Given the description of an element on the screen output the (x, y) to click on. 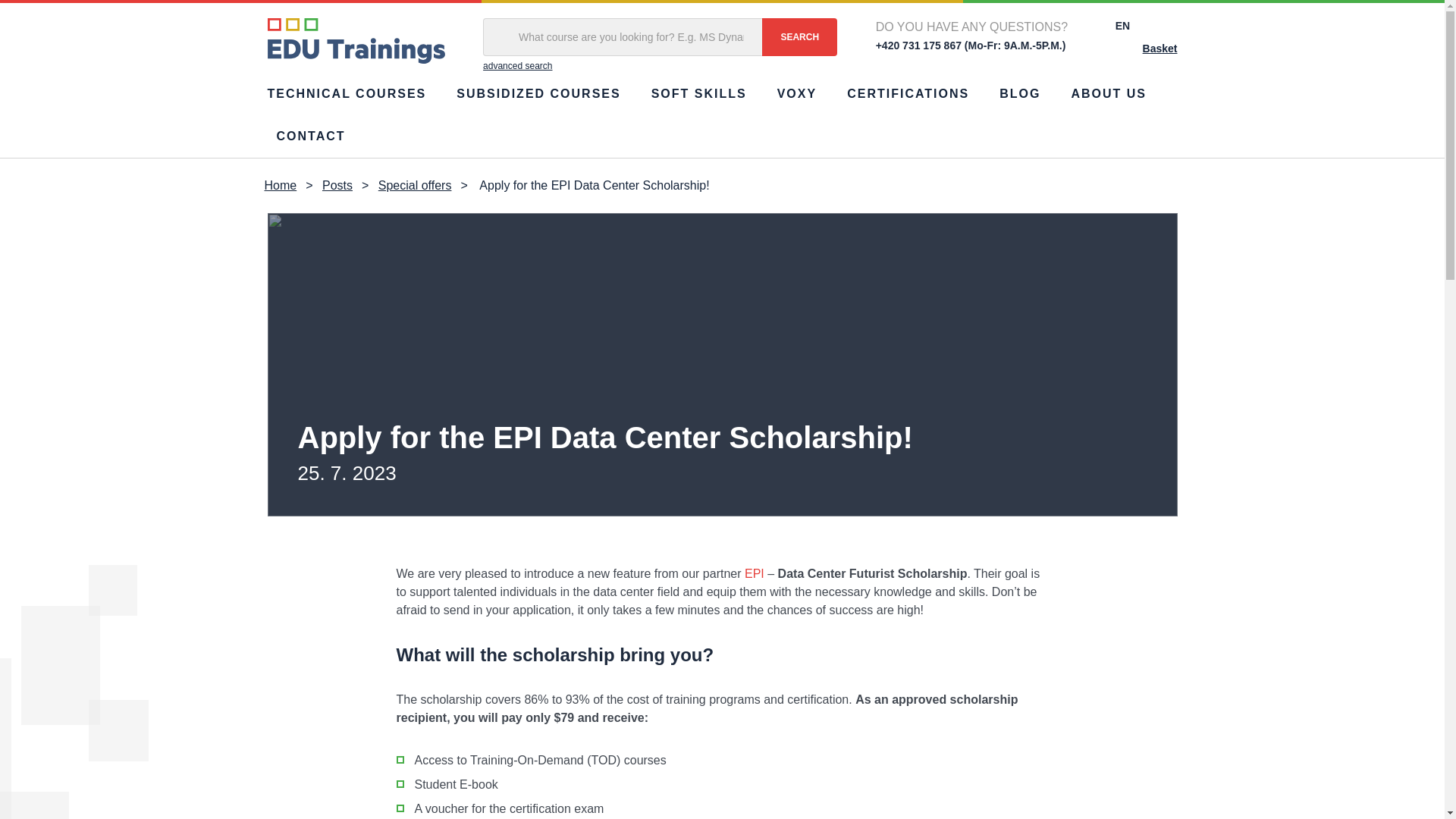
TECHNICAL COURSES (350, 93)
Posts (336, 185)
advanced search (660, 65)
VOXY (796, 93)
EN (1141, 26)
CONTACT (309, 136)
Search (799, 37)
SOFT SKILLS (698, 93)
EPI (754, 573)
BLOG (1019, 93)
ABOUT US (1108, 93)
Home (280, 185)
Basket (1146, 49)
Special offers (414, 185)
CERTIFICATIONS (908, 93)
